Given the description of an element on the screen output the (x, y) to click on. 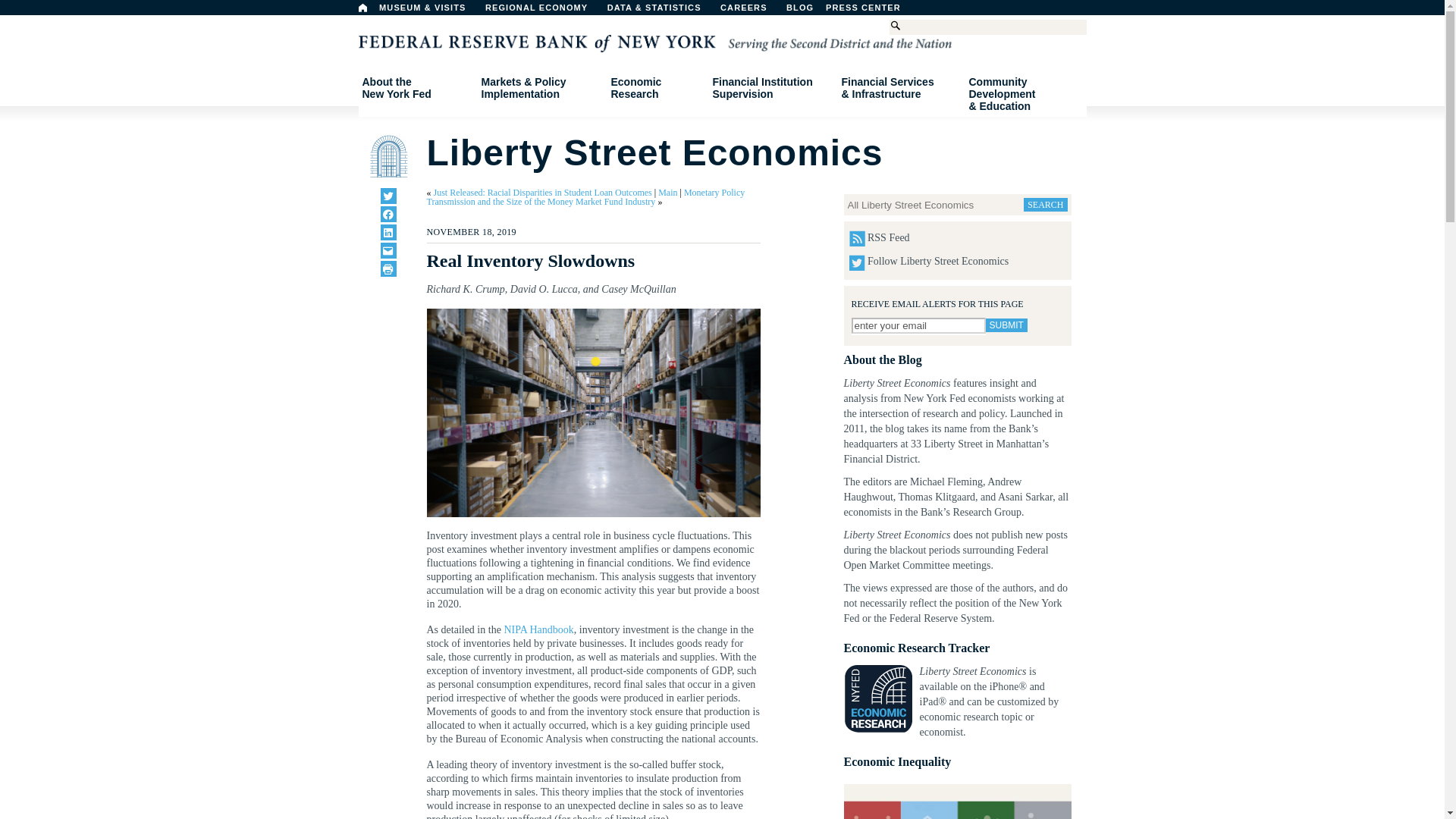
CAREERS (751, 11)
Click to email a link to a friend (388, 250)
BLOG (839, 11)
Click to print (415, 87)
Click to share on Twitter (388, 268)
Click to share on LinkedIn (388, 195)
REGIONAL ECONOMY (388, 232)
Home (543, 11)
enter your email (362, 8)
Submit (917, 325)
Real Inventory Slowdowns (1006, 325)
PRESS CENTER (593, 412)
Click to share on Facebook (870, 11)
